Given the description of an element on the screen output the (x, y) to click on. 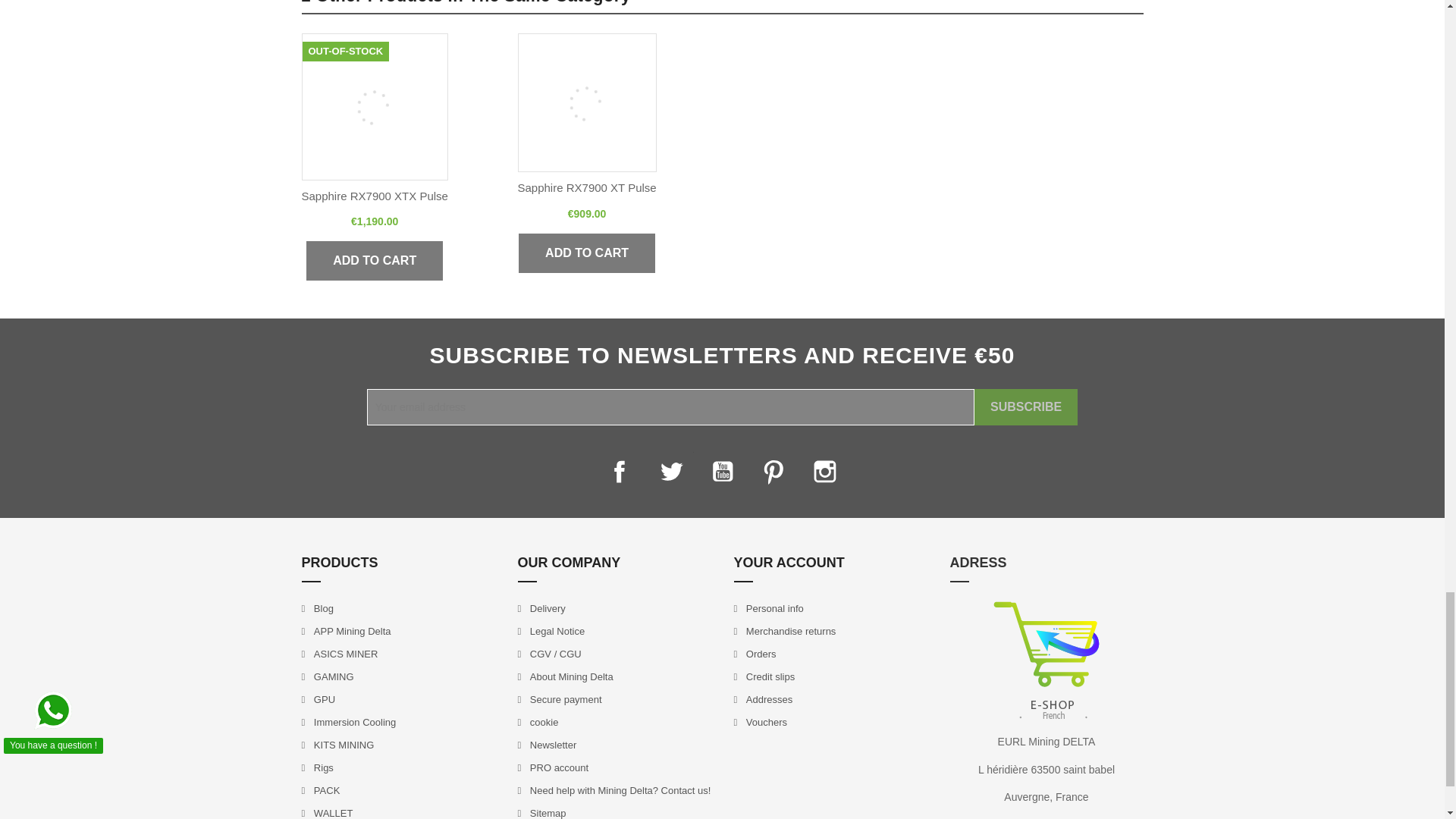
Subscribe (1025, 407)
